Given the description of an element on the screen output the (x, y) to click on. 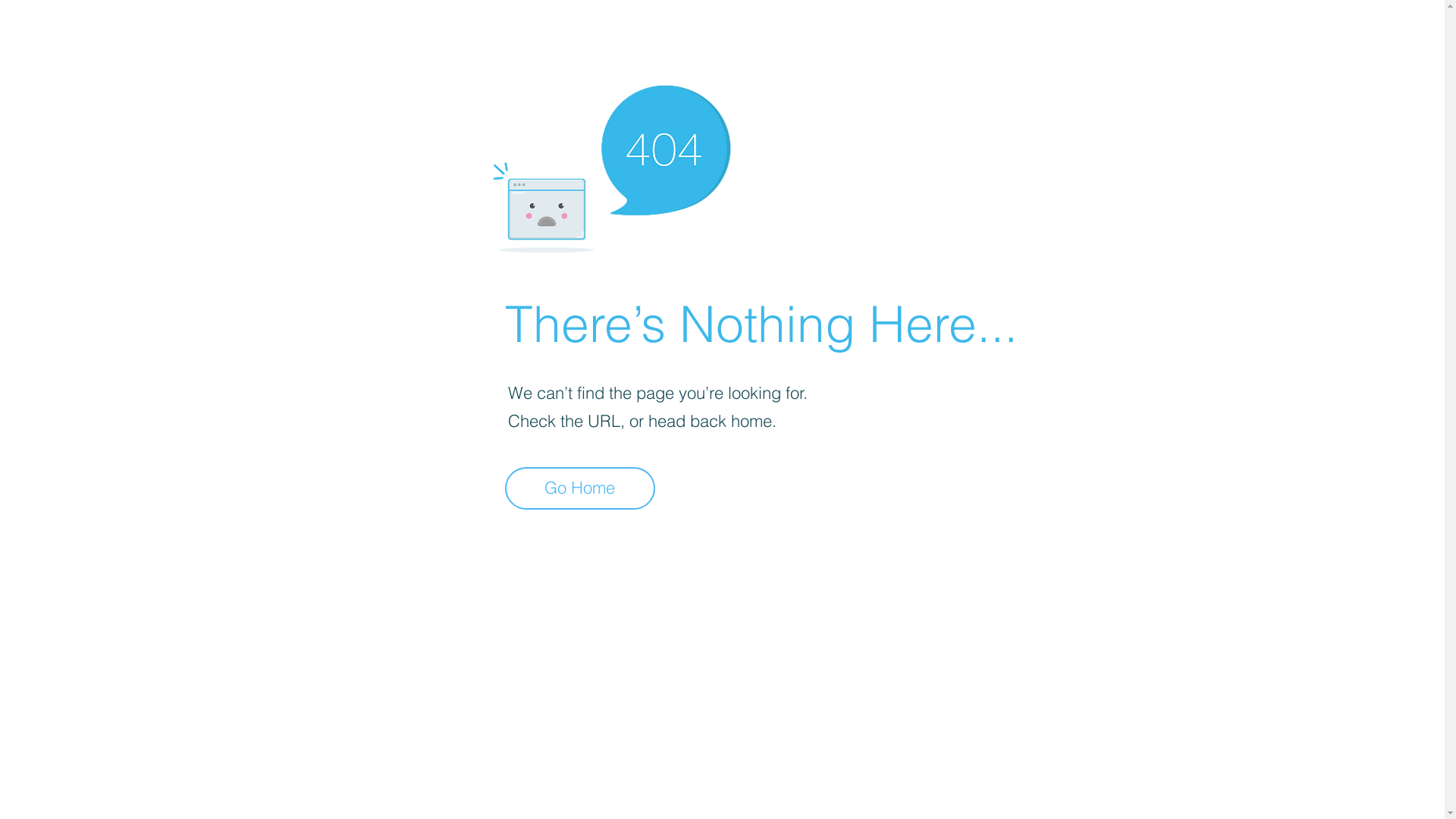
Go Home Element type: text (580, 488)
404-icon_2.png Element type: hover (610, 164)
